Given the description of an element on the screen output the (x, y) to click on. 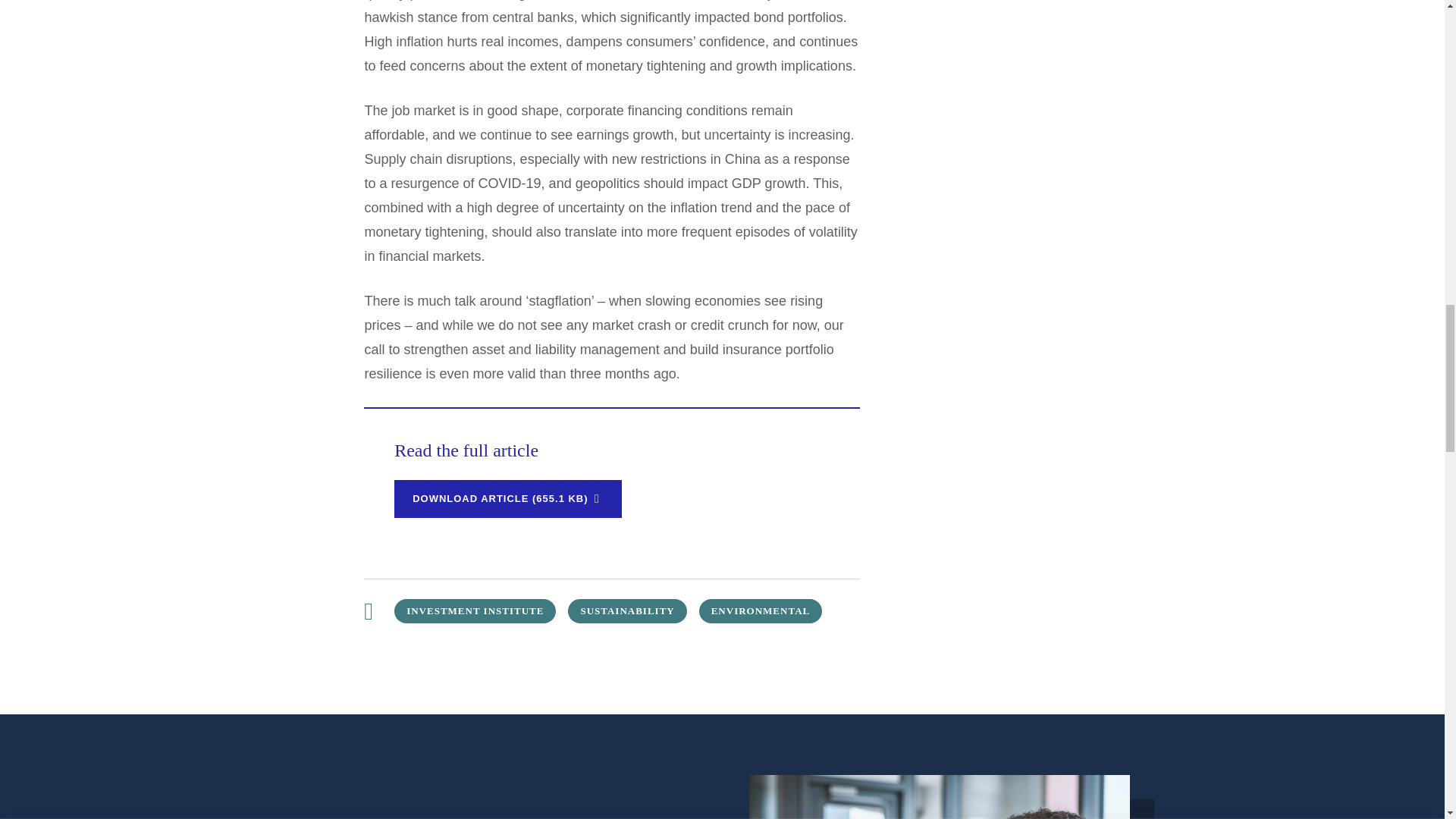
Explore Environmental insights (760, 610)
Explore Investment Institute insights (475, 610)
Explore Sustainability insights (626, 610)
